Given the description of an element on the screen output the (x, y) to click on. 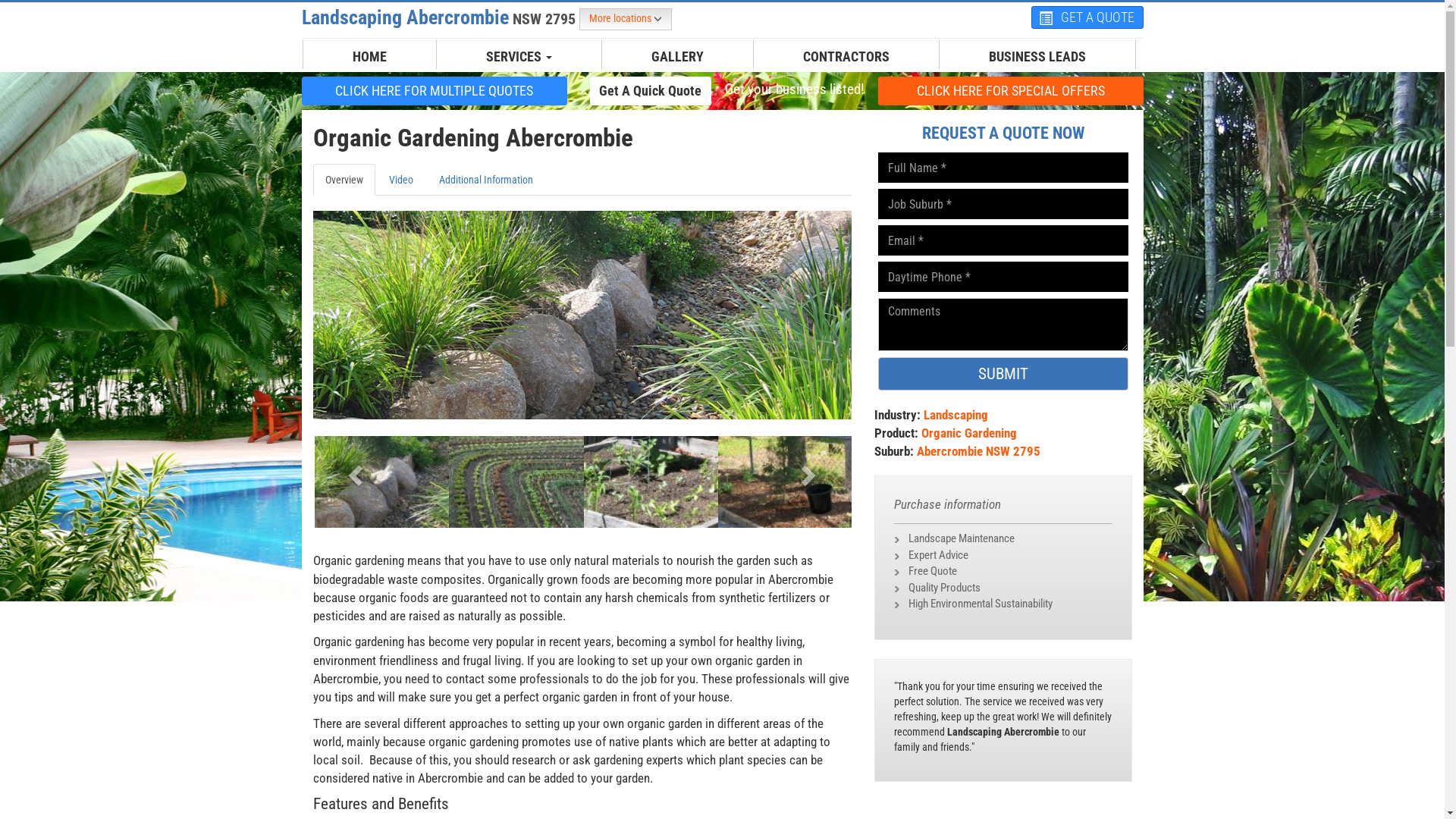
CLICK HERE FOR SPECIAL OFFERS Element type: text (1010, 90)
Landscaping Abercrombie NSW 2795 Element type: text (440, 17)
CONTRACTORS Element type: text (845, 56)
HOME Element type: text (369, 56)
Get A Quick Quote Element type: text (650, 90)
More locations Element type: text (625, 19)
Additional Information Element type: text (485, 179)
CLICK HERE FOR MULTIPLE QUOTES Element type: text (434, 90)
GET A QUOTE Element type: text (1087, 17)
GALLERY Element type: text (677, 56)
Get your business listed! Element type: text (793, 89)
BUSINESS LEADS Element type: text (1036, 56)
Get A Quick Quote Element type: text (650, 90)
Overview Element type: text (343, 179)
CLICK HERE FOR SPECIAL OFFERS Element type: text (1010, 90)
SUBMIT Element type: text (1003, 373)
SERVICES Element type: text (518, 56)
CLICK HERE FOR MULTIPLE QUOTES Element type: text (434, 90)
prev Element type: hover (352, 470)
Video Element type: text (400, 179)
